Given the description of an element on the screen output the (x, y) to click on. 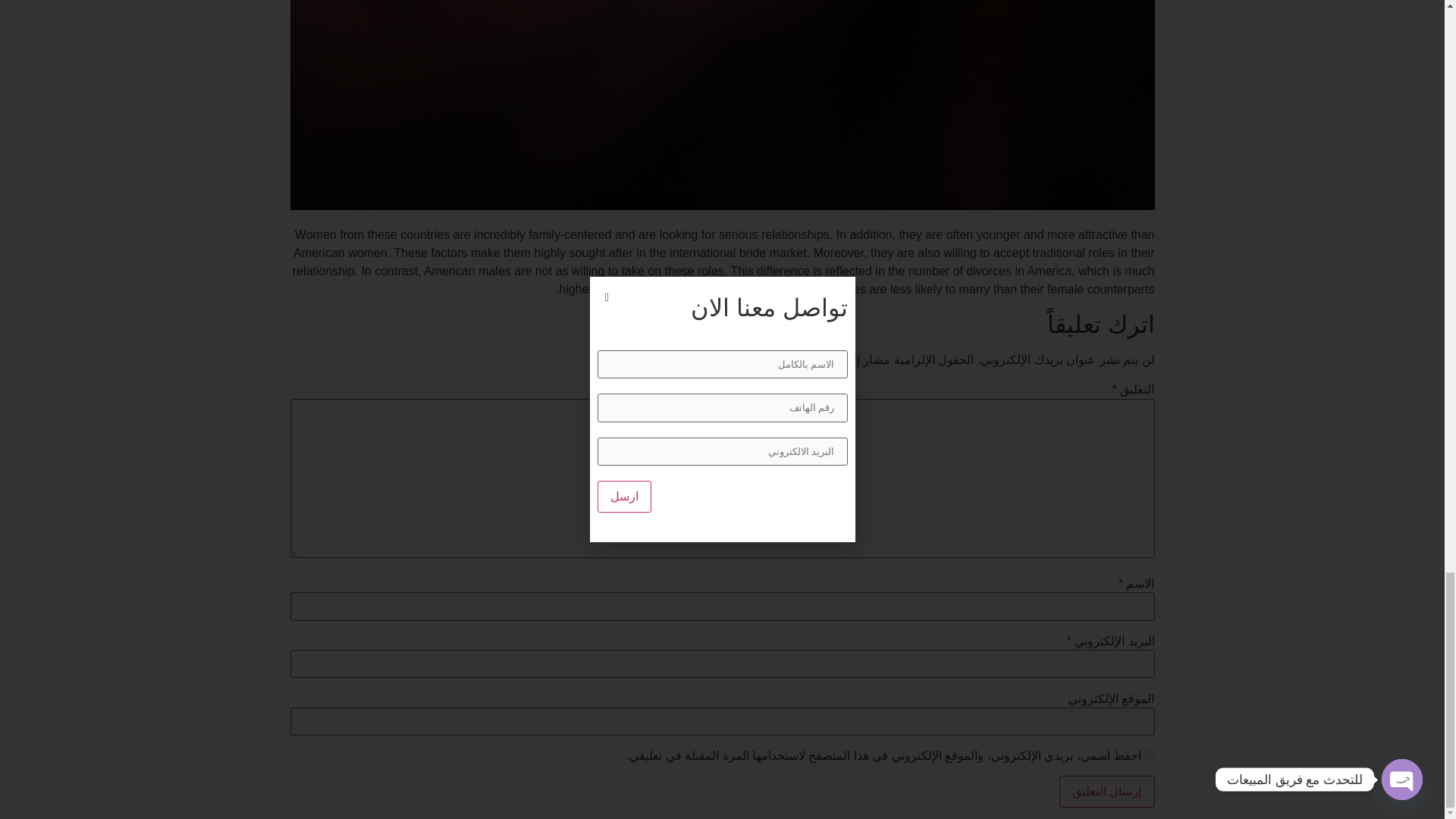
yes (1149, 755)
